Given the description of an element on the screen output the (x, y) to click on. 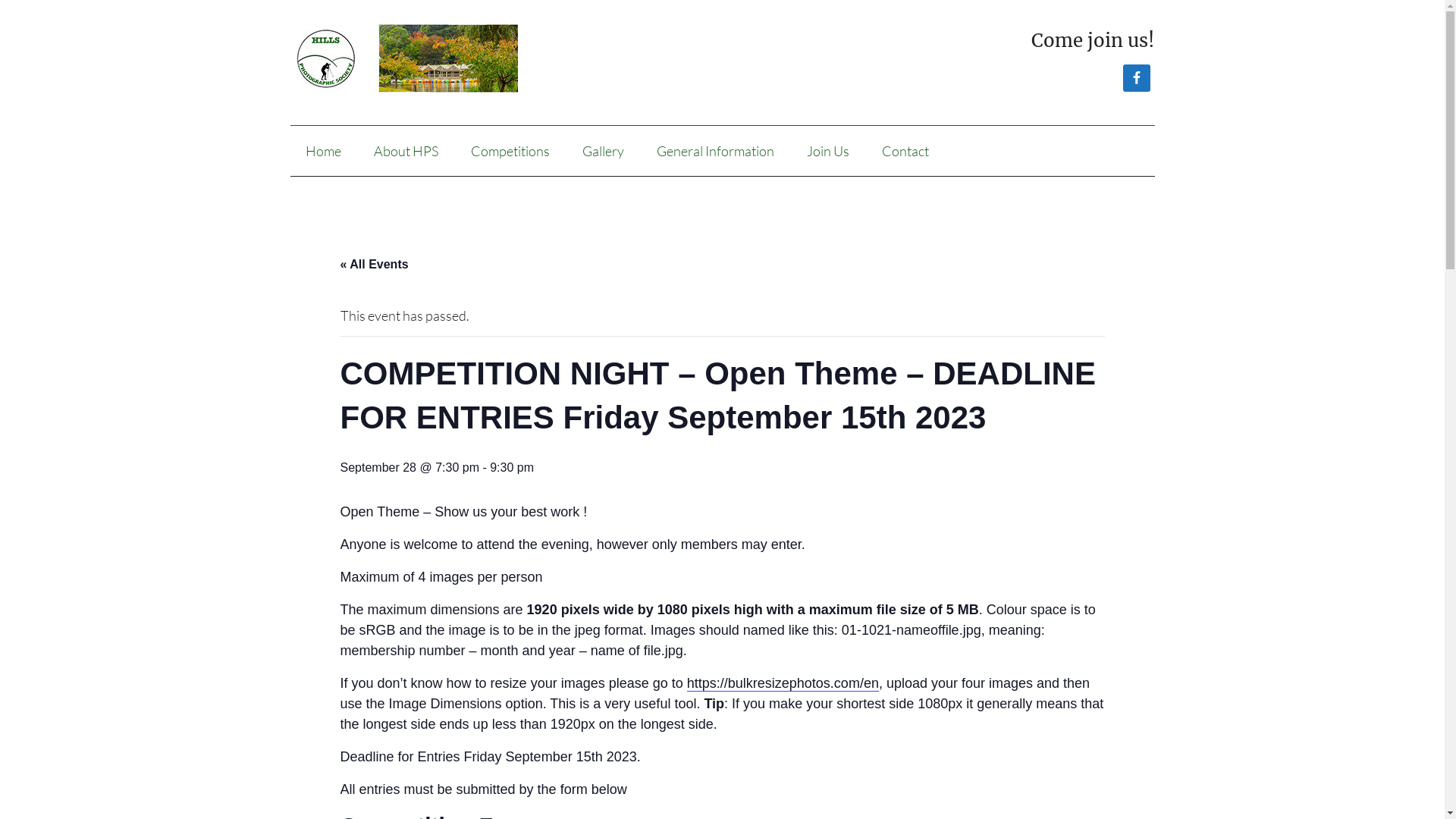
General Information Element type: text (715, 150)
Competitions Element type: text (509, 150)
Home Element type: text (322, 150)
Join Us Element type: text (827, 150)
Contact Element type: text (904, 150)
https://bulkresizephotos.com/en Element type: text (782, 683)
hills photographic society Element type: text (440, 58)
Gallery Element type: text (603, 150)
About HPS Element type: text (404, 150)
